Given the description of an element on the screen output the (x, y) to click on. 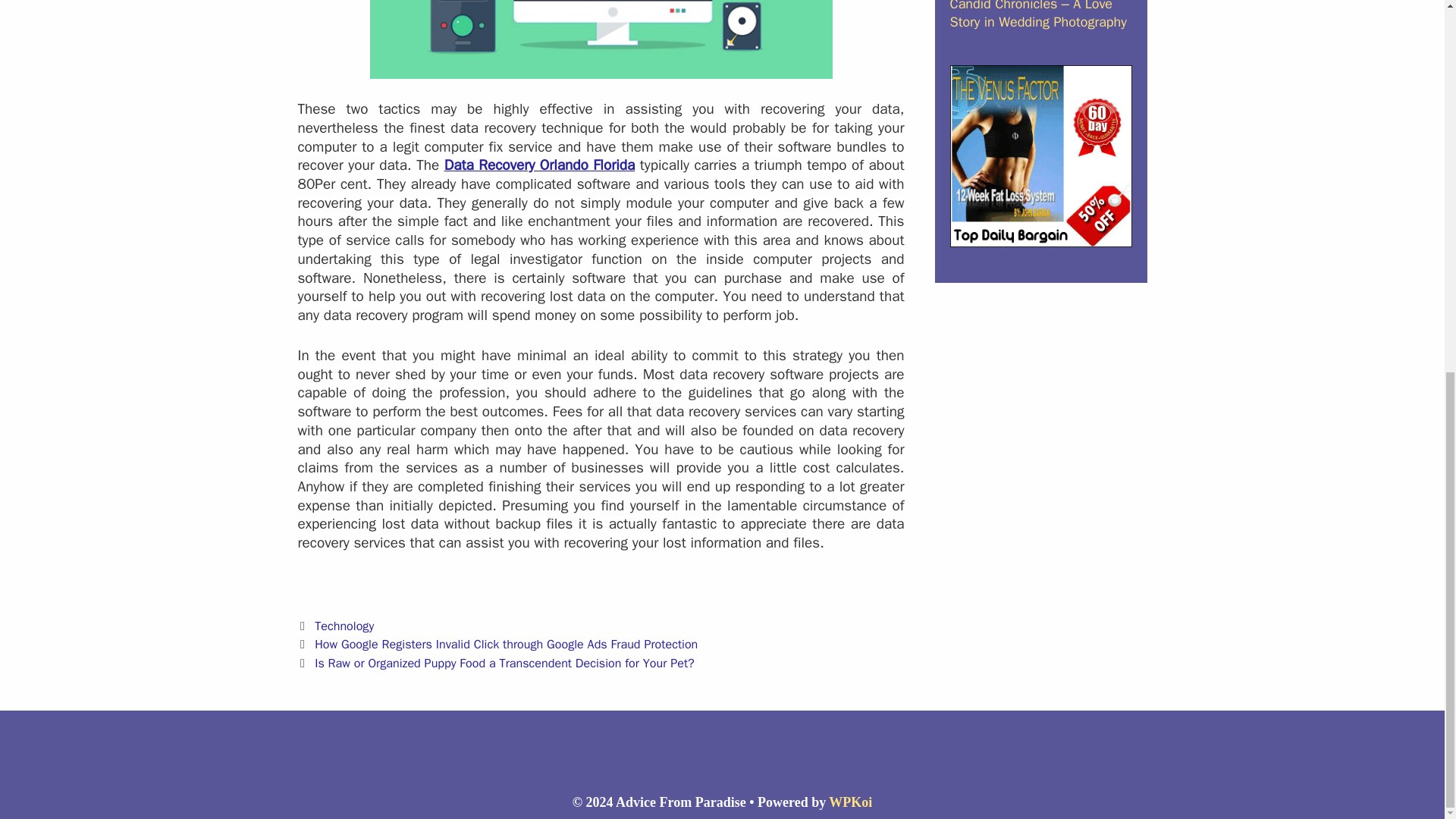
Next (495, 662)
WPKoi (850, 801)
Data Recovery Orlando Florida (539, 165)
Previous (497, 643)
Technology (344, 625)
